Given the description of an element on the screen output the (x, y) to click on. 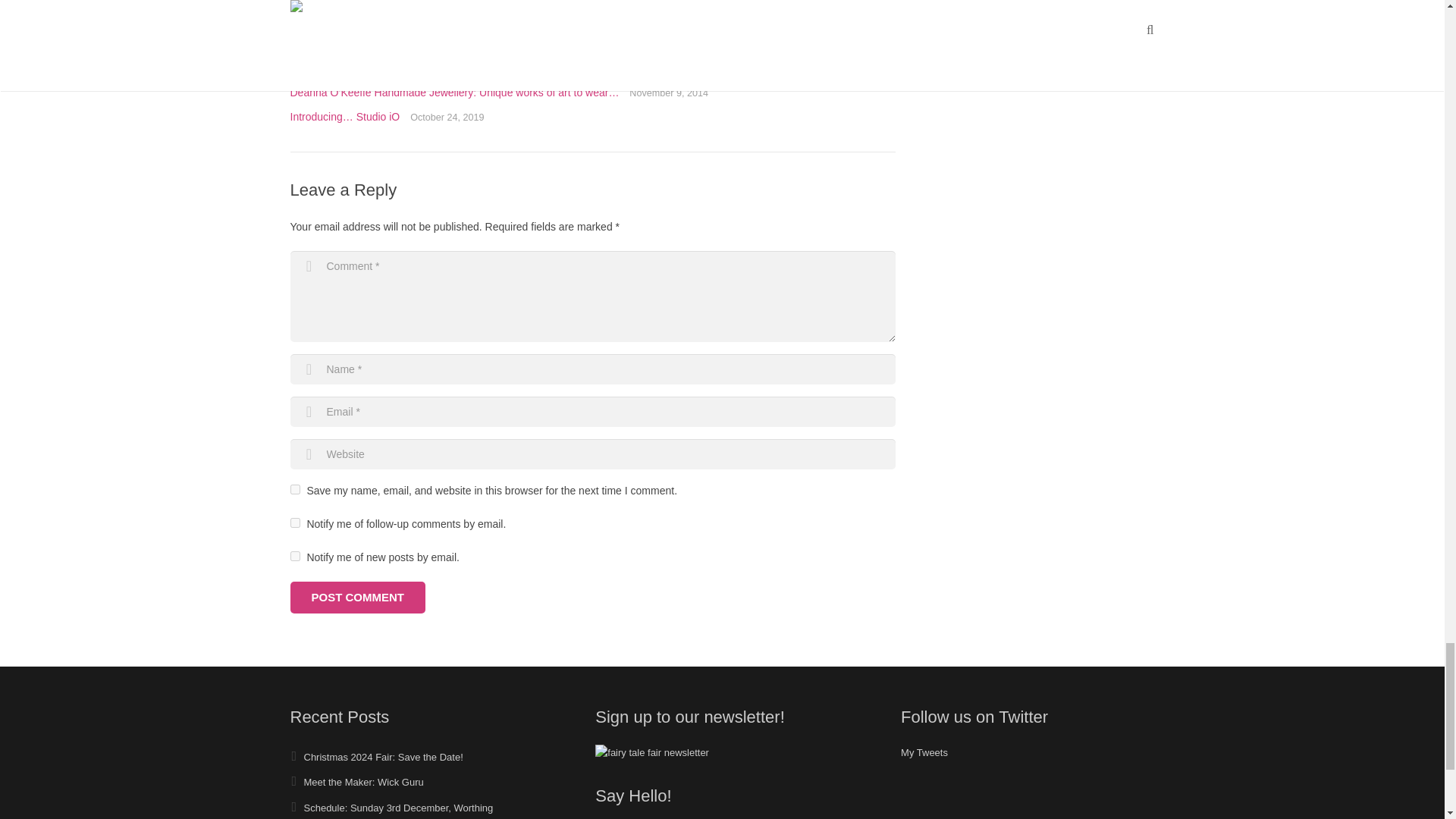
Post Comment (357, 597)
Post Comment (357, 597)
subscribe (294, 522)
subscribe (294, 556)
yes (294, 489)
